Given the description of an element on the screen output the (x, y) to click on. 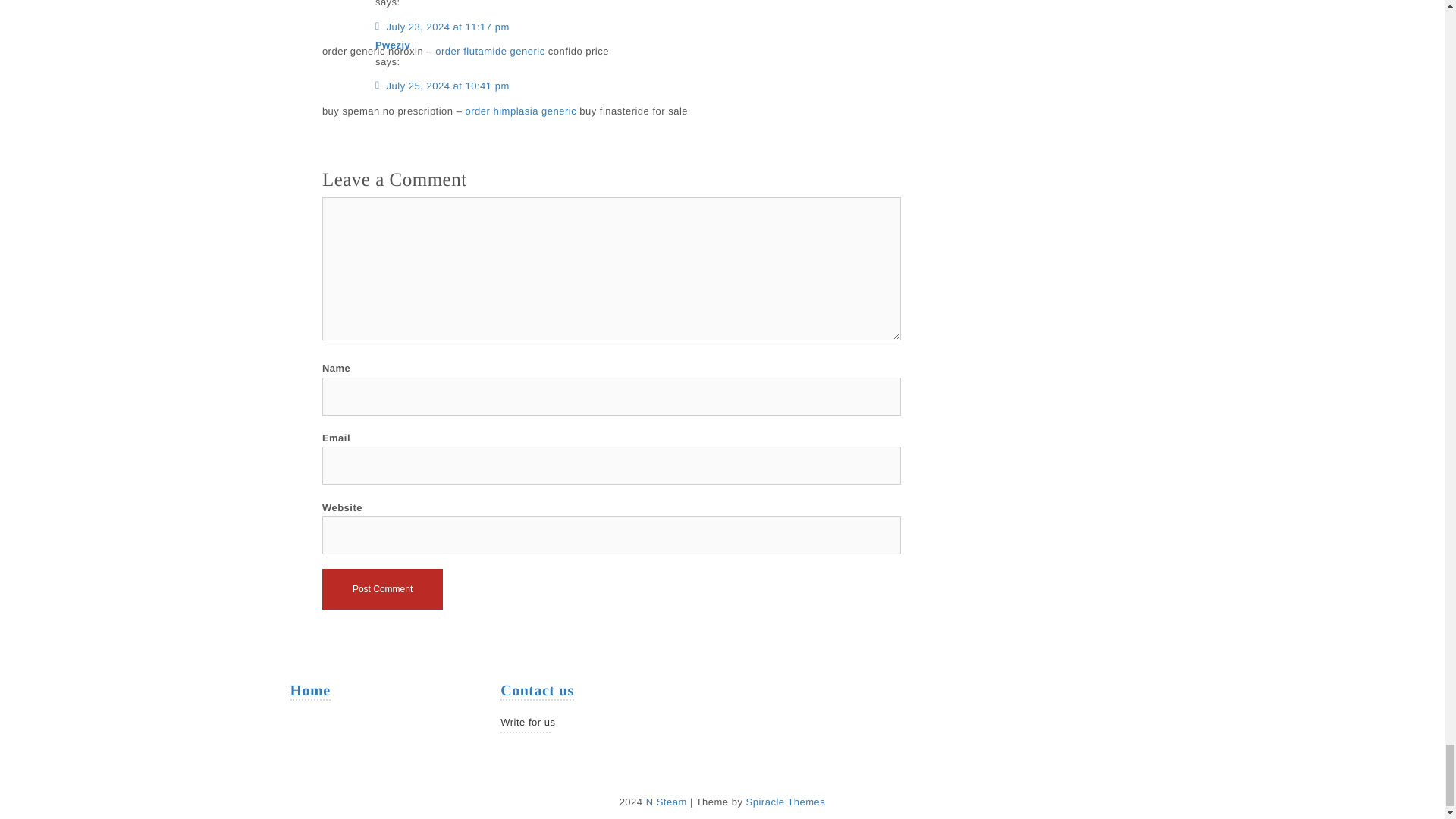
Post Comment (381, 588)
